Given the description of an element on the screen output the (x, y) to click on. 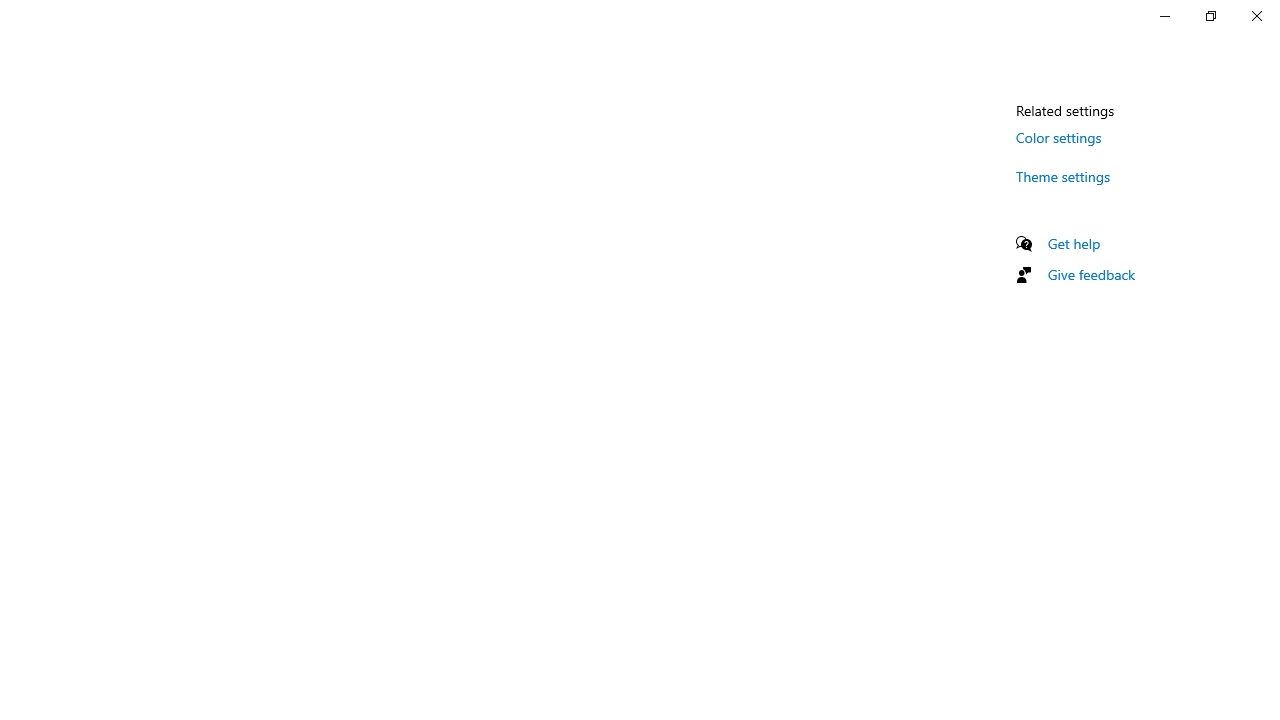
Theme settings (1063, 176)
Restore Settings (1210, 15)
Give feedback (1091, 273)
Close Settings (1256, 15)
Minimize Settings (1164, 15)
Get help (1074, 243)
Color settings (1059, 137)
